Given the description of an element on the screen output the (x, y) to click on. 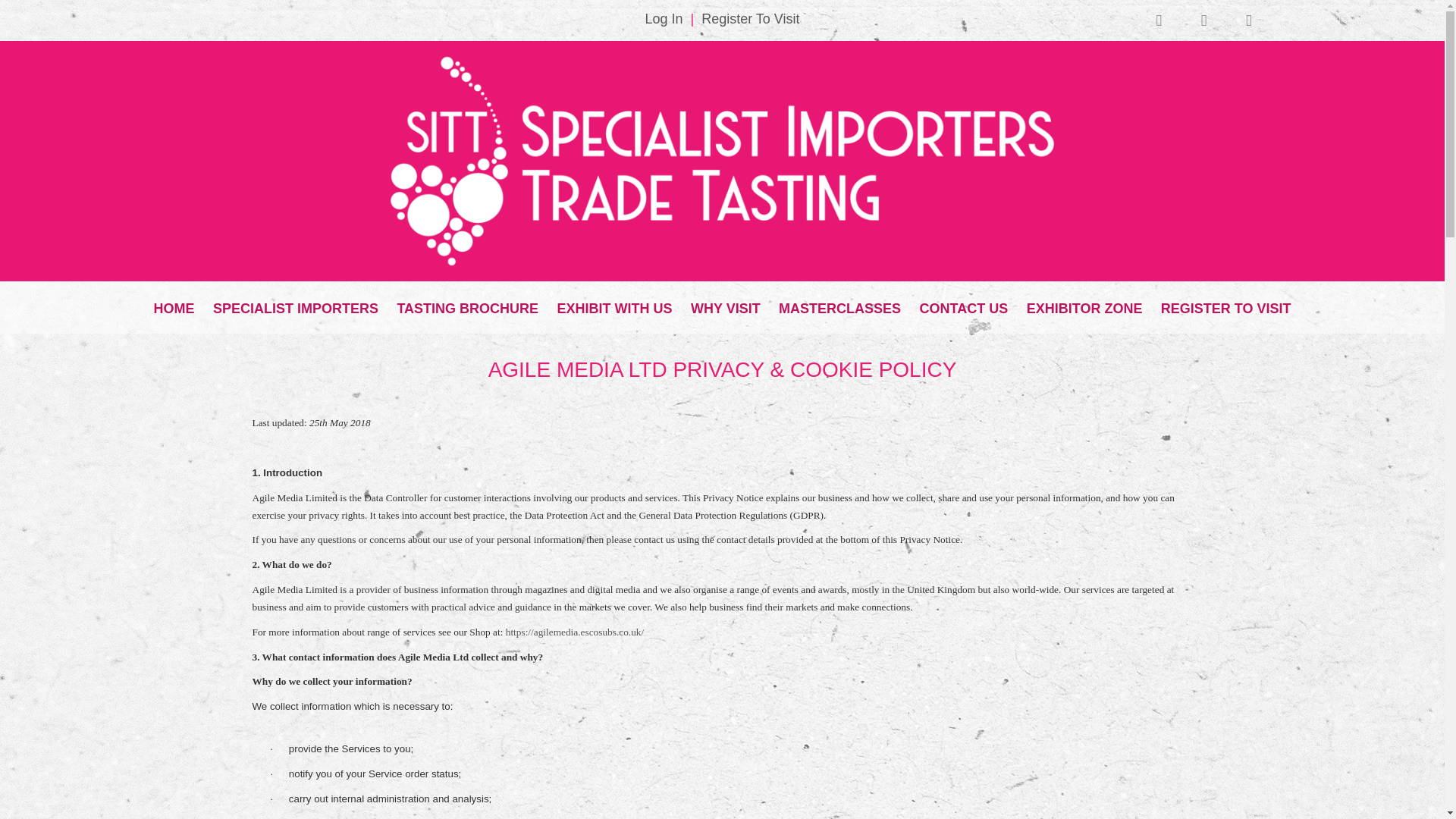
Register To Visit (750, 18)
EXHIBITOR ZONE (1084, 304)
SPECIALIST IMPORTERS (295, 304)
CONTACT US (964, 304)
WHY VISIT (725, 304)
Log In (663, 18)
MASTERCLASSES (839, 304)
HOME (173, 304)
EXHIBIT WITH US (614, 304)
TASTING BROCHURE (467, 304)
REGISTER TO VISIT (1225, 304)
